Given the description of an element on the screen output the (x, y) to click on. 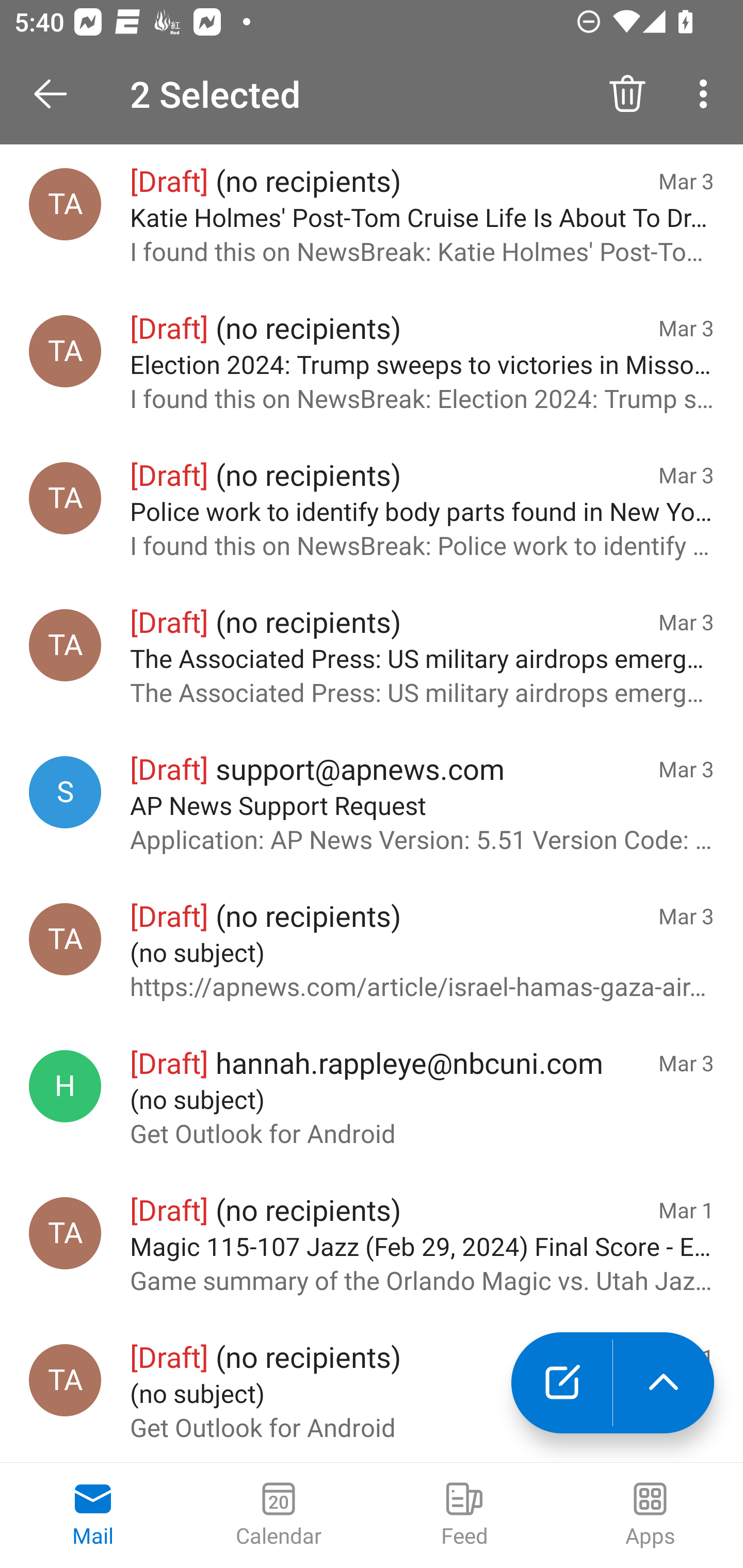
Delete (626, 93)
More options (706, 93)
Open Navigation Drawer (57, 94)
Test Appium, testappium002@outlook.com (64, 203)
Test Appium, testappium002@outlook.com (64, 351)
Test Appium, testappium002@outlook.com (64, 498)
Test Appium, testappium002@outlook.com (64, 645)
support@apnews.com (64, 791)
Test Appium, testappium002@outlook.com (64, 939)
hannah.rappleye@nbcuni.com (64, 1086)
Test Appium, testappium002@outlook.com (64, 1233)
New mail (561, 1382)
launch the extended action menu (663, 1382)
Test Appium, testappium002@outlook.com (64, 1379)
Calendar (278, 1515)
Feed (464, 1515)
Apps (650, 1515)
